Given the description of an element on the screen output the (x, y) to click on. 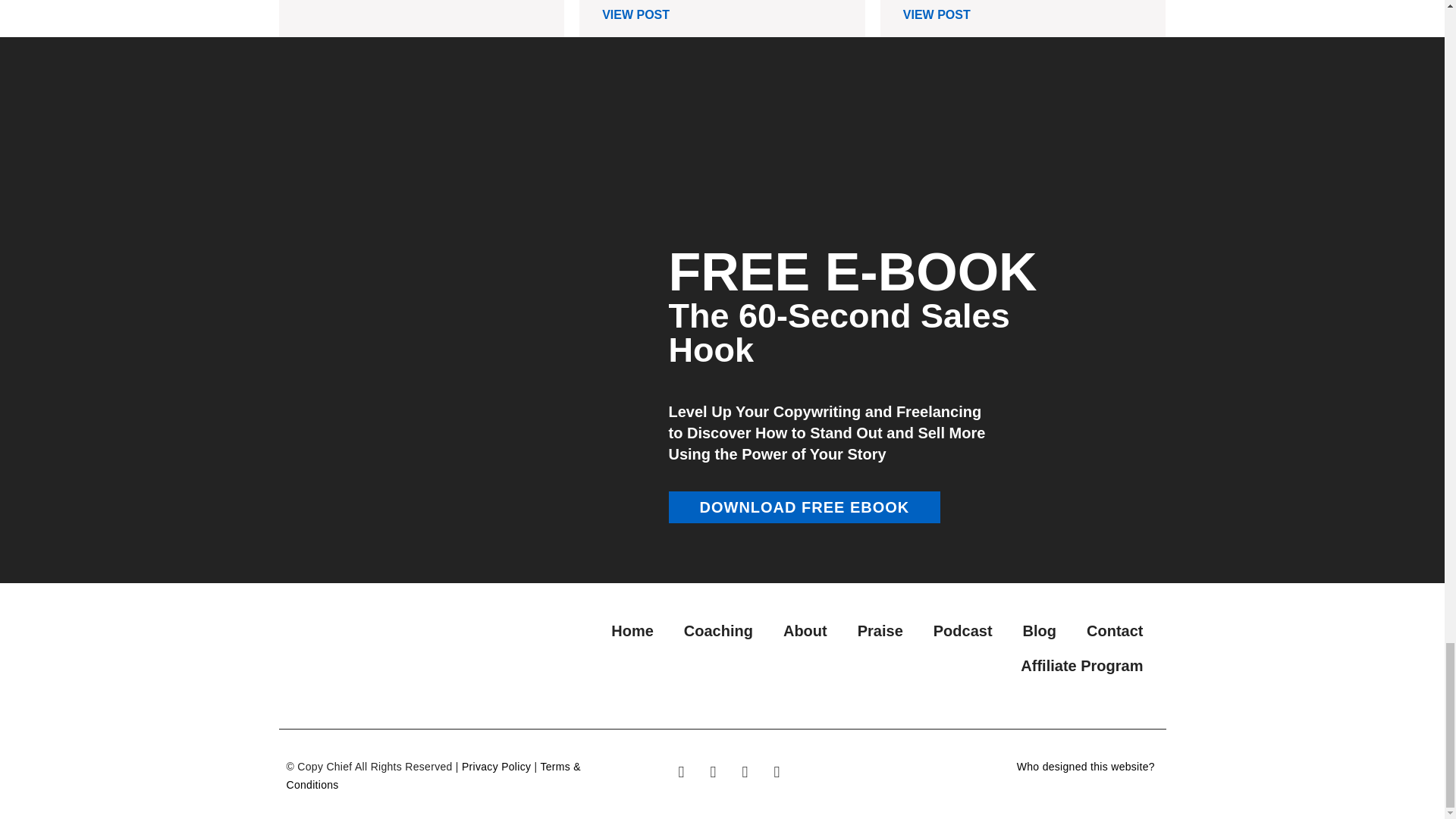
Podcast (962, 630)
Home (631, 630)
About (805, 630)
VIEW POST (936, 14)
Coaching (718, 630)
VIEW POST (335, 0)
Praise (880, 630)
VIEW POST (635, 14)
DOWNLOAD FREE EBOOK (804, 507)
